Given the description of an element on the screen output the (x, y) to click on. 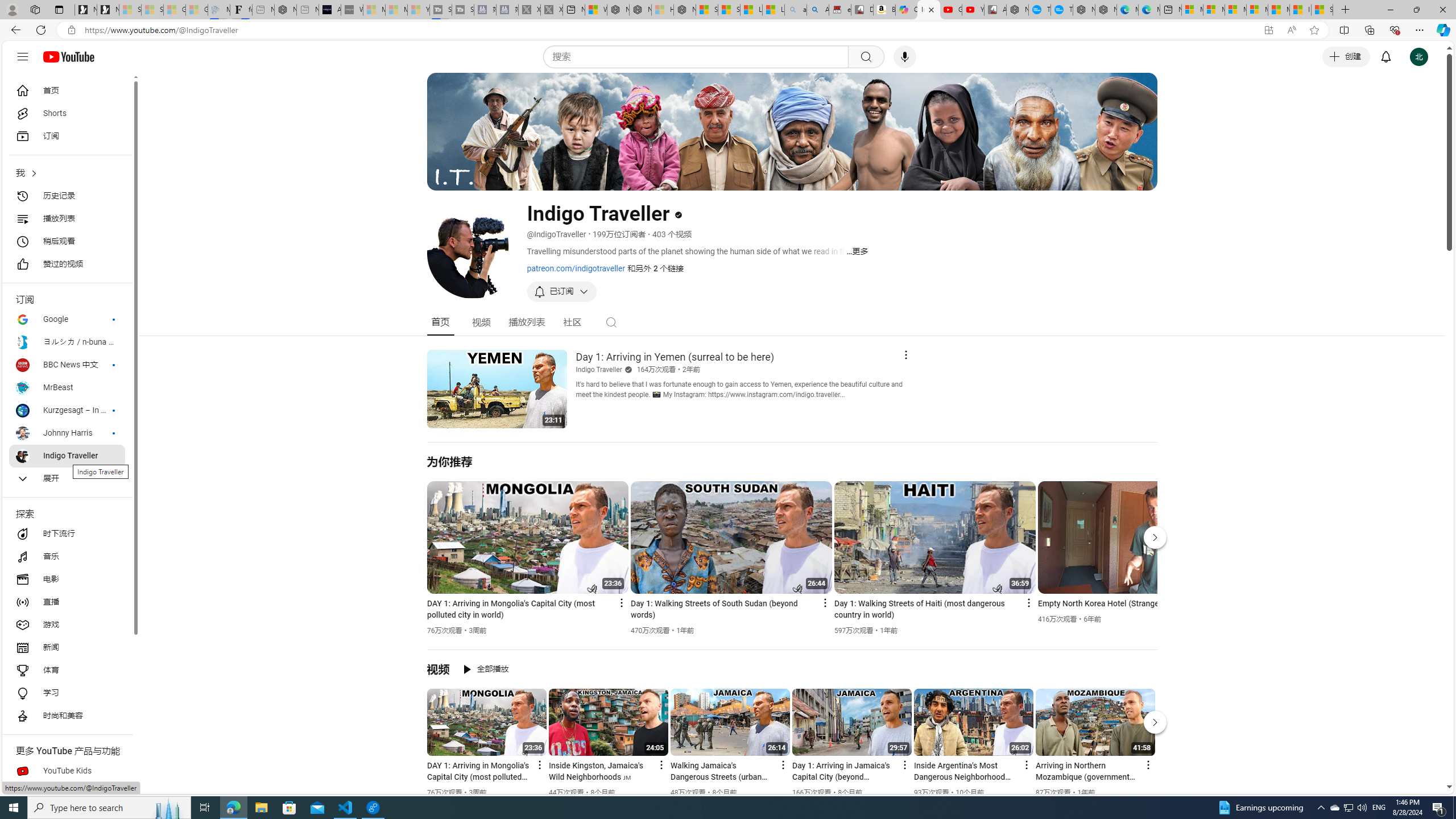
The most popular Google 'how to' searches (1061, 9)
AI Voice Changer for PC and Mac - Voice.ai (330, 9)
Shorts (66, 113)
